Given the description of an element on the screen output the (x, y) to click on. 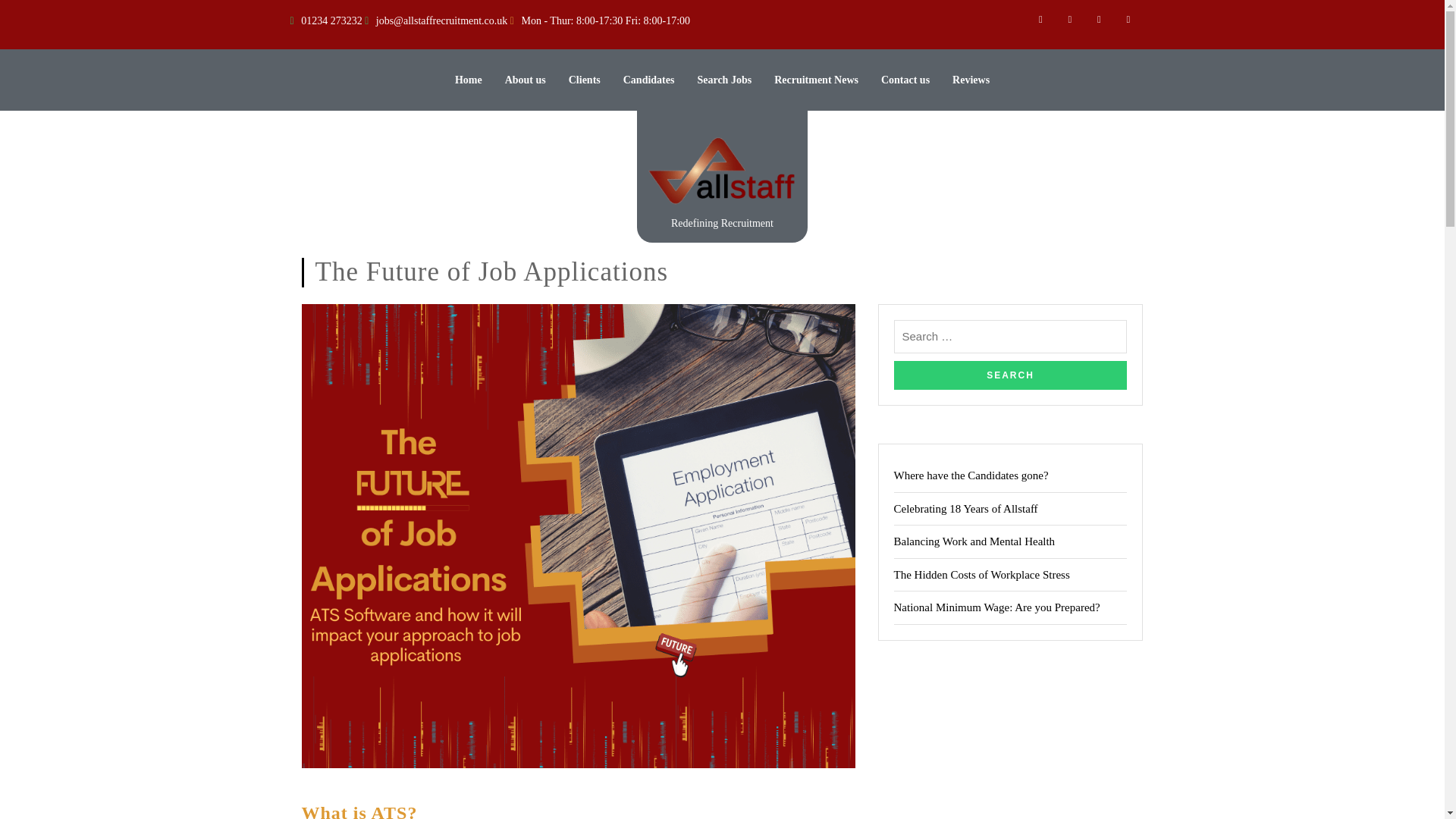
Candidates (649, 79)
Clients (584, 79)
Search Jobs (724, 79)
About us (525, 79)
Recruitment News (816, 79)
Home (467, 79)
Search (1009, 375)
Search (1009, 375)
Contact us (905, 79)
Reviews (971, 79)
